Given the description of an element on the screen output the (x, y) to click on. 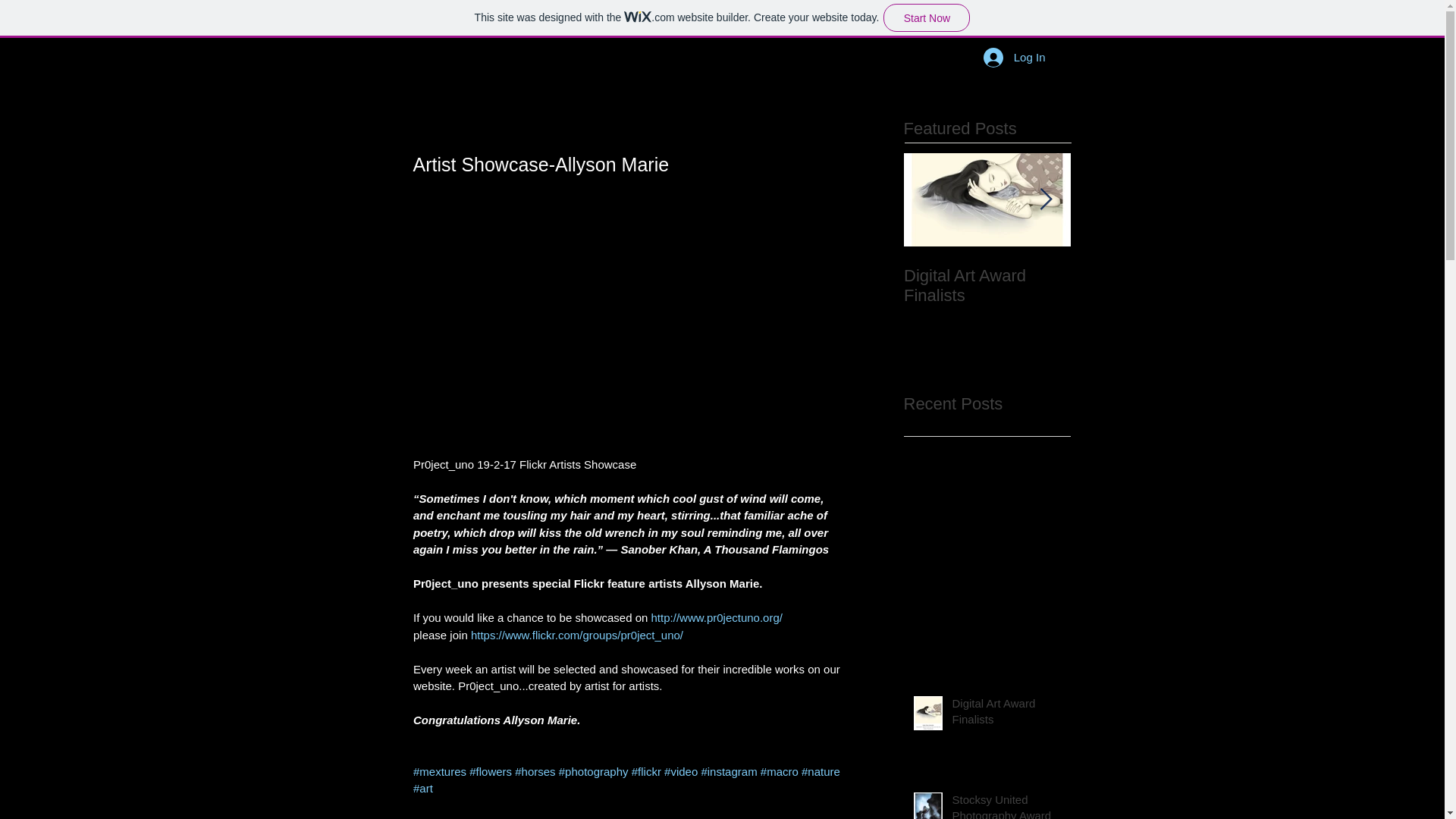
Log In (1014, 56)
Digital Art Award Finalists (987, 285)
Stocksy United Photography Award Finalists (1153, 295)
Digital Art Award Finalists (1006, 714)
Stocksy United Photography Award Finalists (1006, 805)
